Given the description of an element on the screen output the (x, y) to click on. 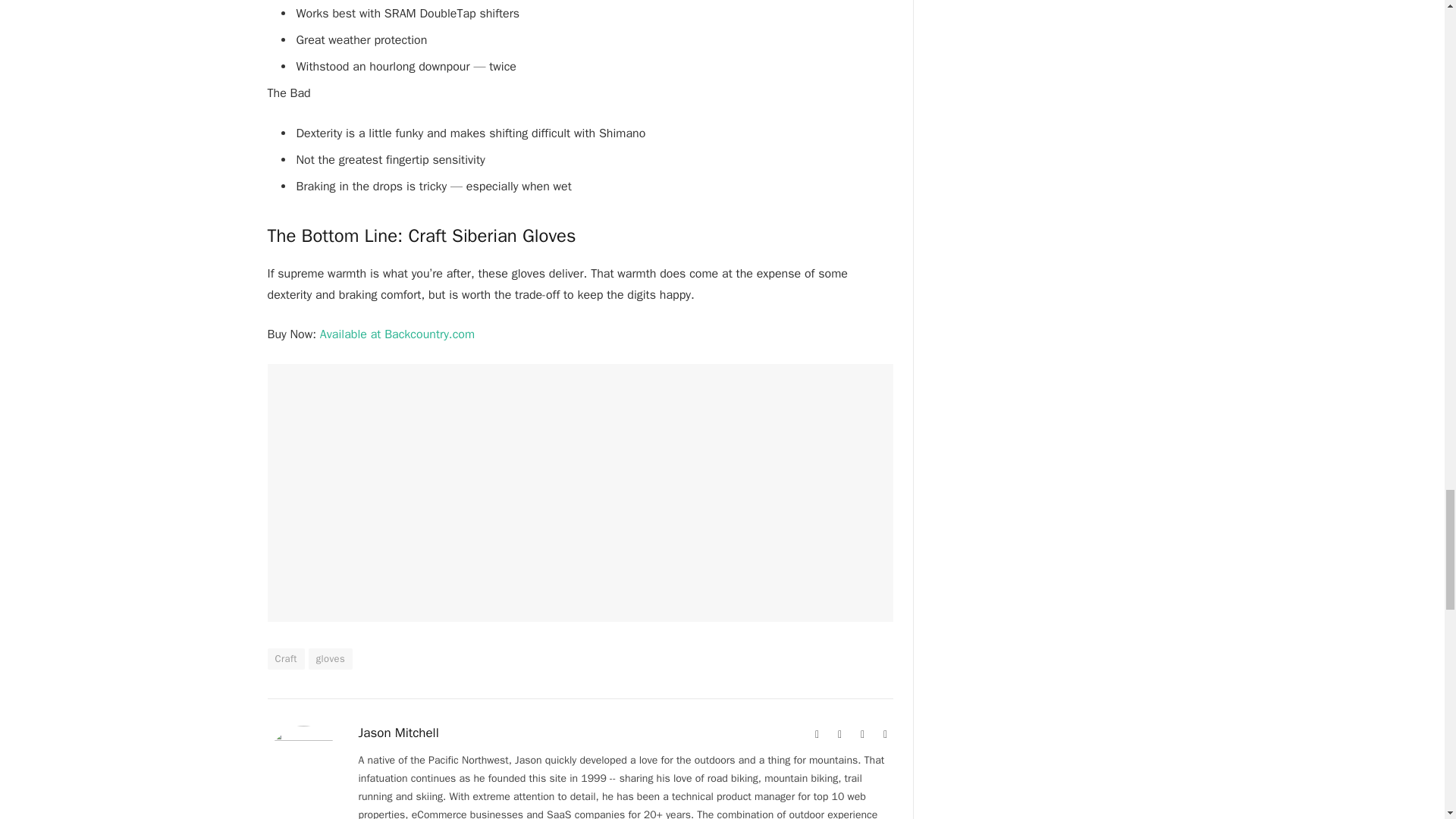
Instagram (863, 734)
LinkedIn (885, 734)
Instagram (863, 734)
Website (817, 734)
gloves (330, 658)
LinkedIn (885, 734)
Website (817, 734)
Jason Mitchell (398, 733)
Available at Backcountry.com (397, 334)
Posts by Jason Mitchell (398, 733)
